Given the description of an element on the screen output the (x, y) to click on. 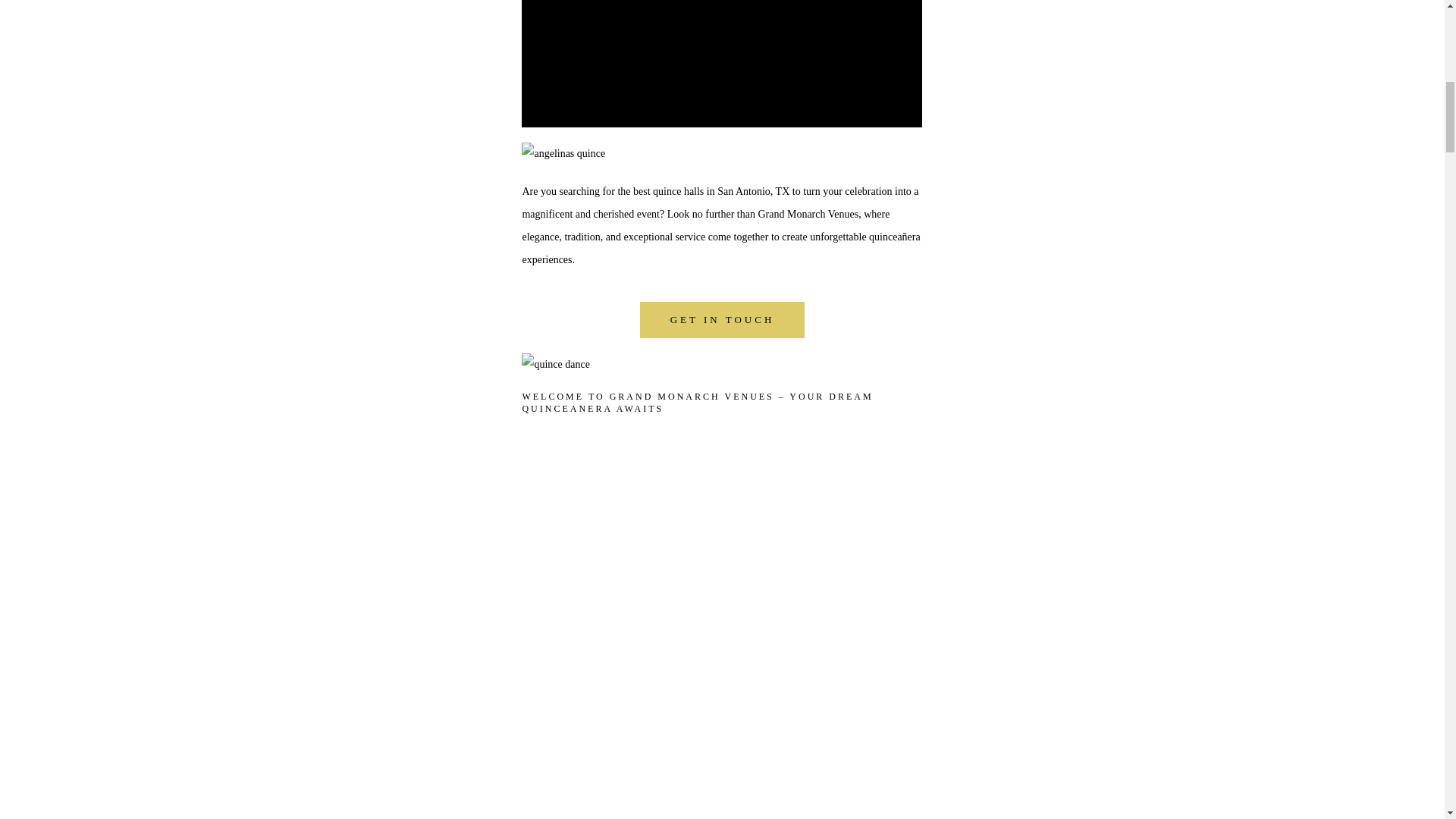
GET IN TOUCH (722, 320)
angelinas quince (563, 153)
quince dance (555, 363)
YouTube video player 1 (721, 63)
